Given the description of an element on the screen output the (x, y) to click on. 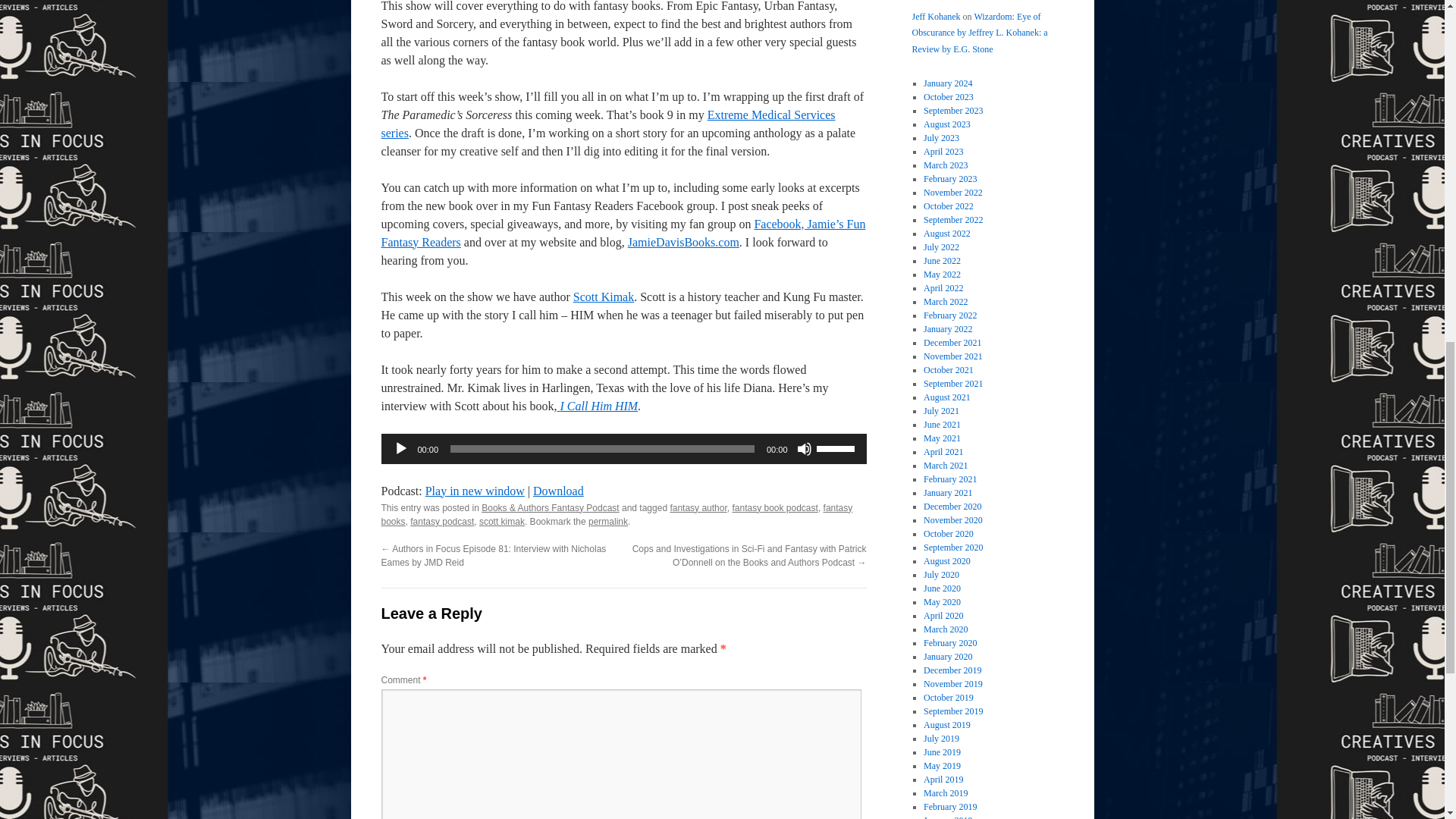
Mute (803, 448)
permalink (607, 521)
Download (557, 490)
Play in new window (474, 490)
Scott Kimak (603, 296)
fantasy podcast (442, 521)
Download (557, 490)
Play in new window (474, 490)
fantasy book podcast (774, 507)
fantasy books (615, 514)
I Call Him HIM (596, 405)
scott kimak (501, 521)
fantasy author (697, 507)
JamieDavisBooks.com (683, 241)
Extreme Medical Services series (607, 123)
